Given the description of an element on the screen output the (x, y) to click on. 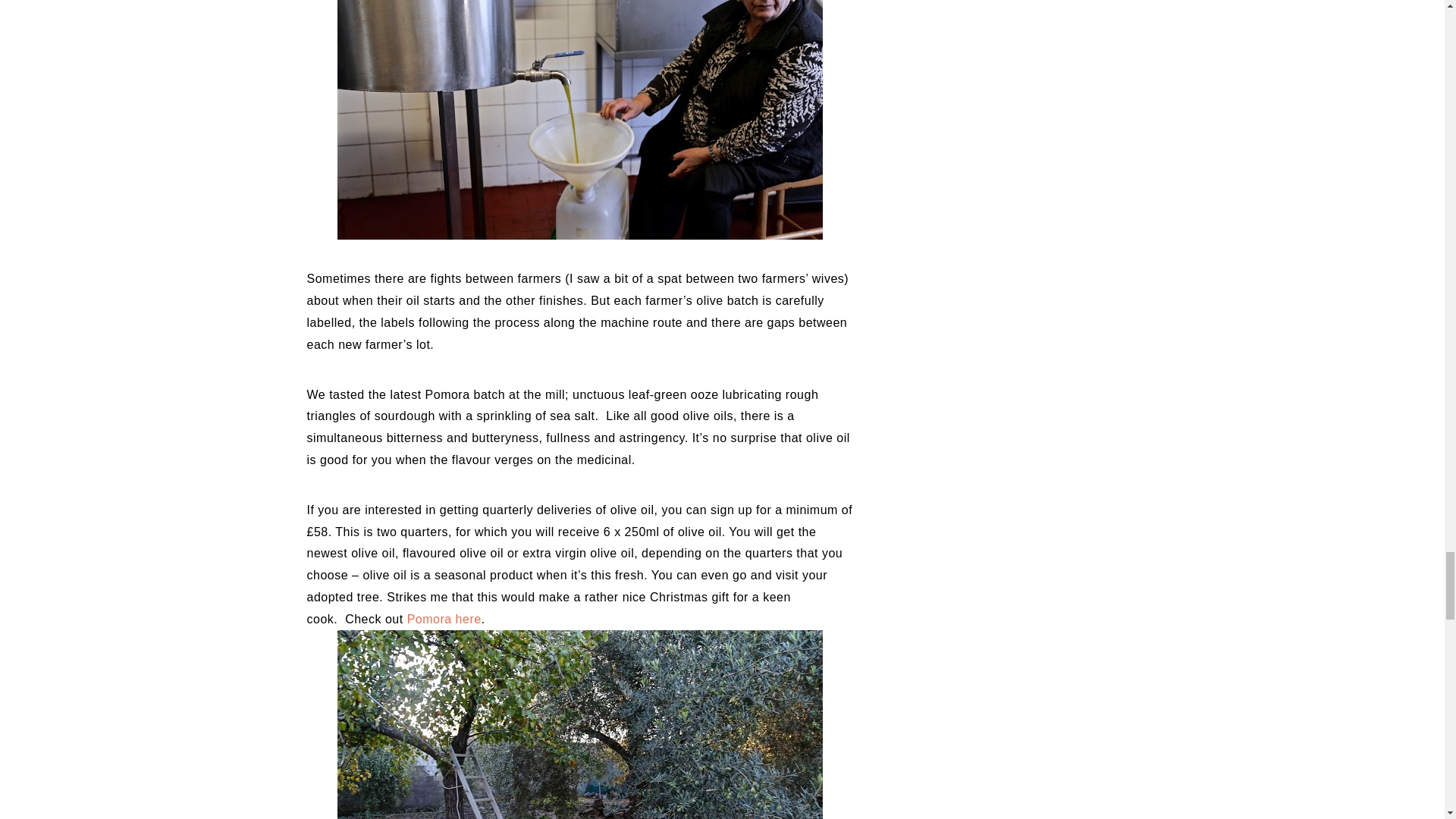
here (466, 618)
Pomora (429, 618)
